Given the description of an element on the screen output the (x, y) to click on. 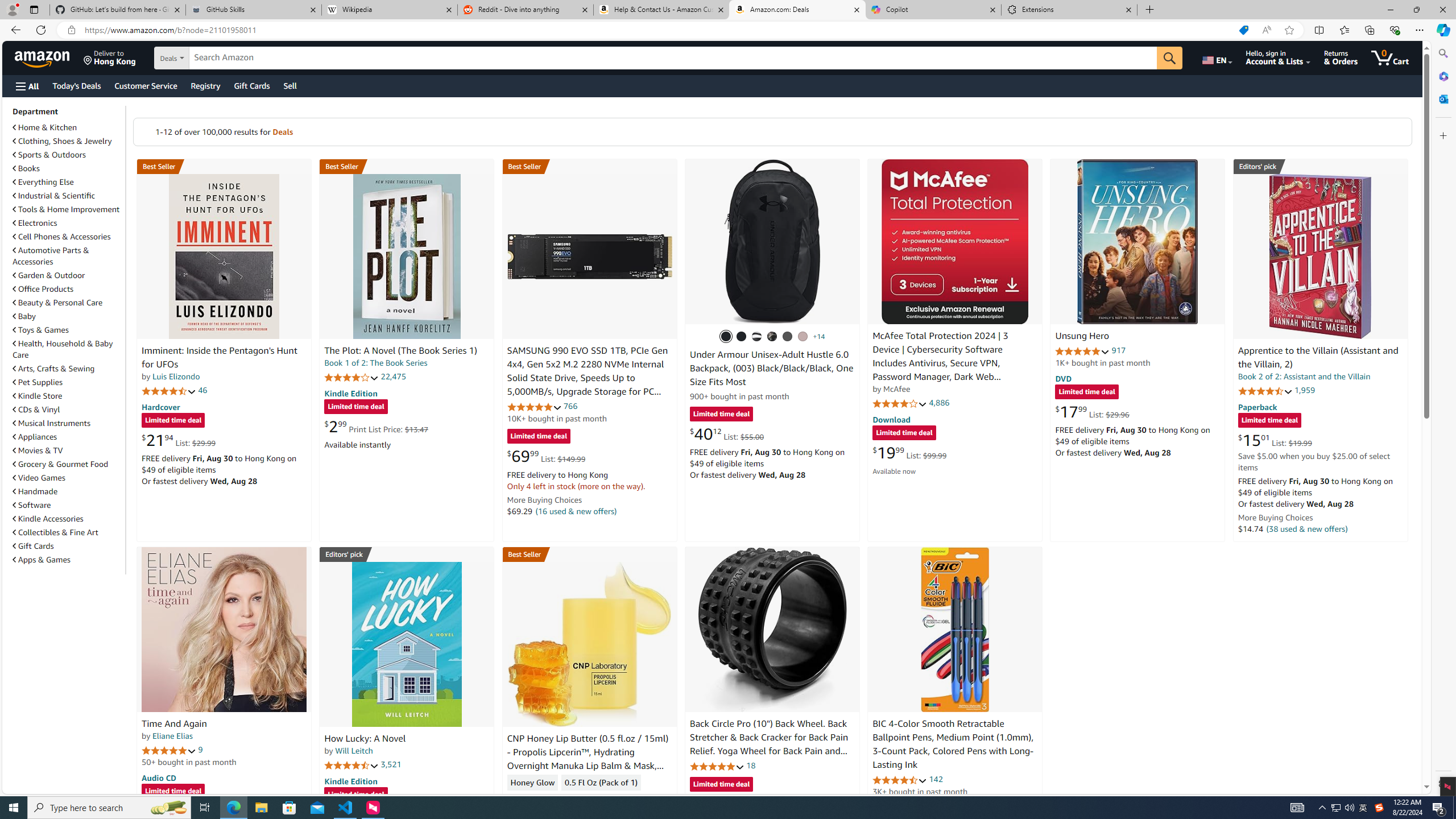
Baby (24, 316)
Sports & Outdoors (49, 154)
Apps & Games (67, 559)
Movies & TV (67, 450)
Amazon.com: Deals (797, 9)
Registry (205, 85)
$69.99 List: $149.99 (545, 455)
Amazon (43, 57)
Kindle Accessories (47, 518)
Time And Again (224, 628)
4,886 (938, 402)
4.3 out of 5 stars (534, 799)
